Given the description of an element on the screen output the (x, y) to click on. 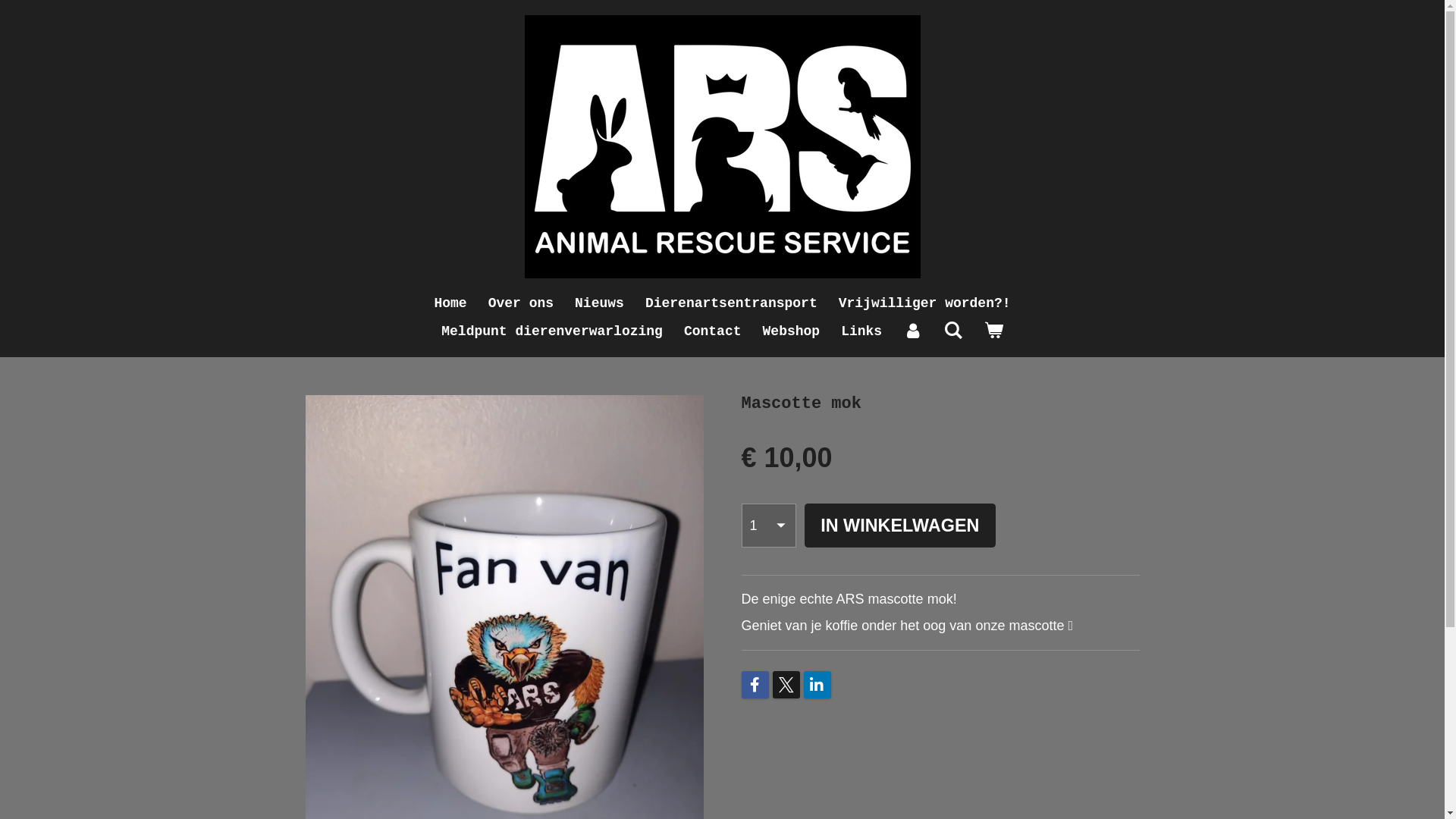
Over ons Element type: text (520, 303)
Contact Element type: text (712, 331)
Account Element type: hover (912, 331)
Nieuws Element type: text (599, 303)
Home Element type: text (449, 303)
Links Element type: text (861, 331)
IN WINKELWAGEN Element type: text (899, 525)
Zoeken Element type: hover (952, 331)
Dierenartsentransport Element type: text (731, 303)
Bekijk winkelwagen Element type: hover (993, 331)
Webshop Element type: text (791, 331)
Meldpunt dierenverwarlozing Element type: text (551, 331)
Animal rescue service Element type: hover (722, 146)
Vrijwilliger worden?! Element type: text (924, 303)
